Given the description of an element on the screen output the (x, y) to click on. 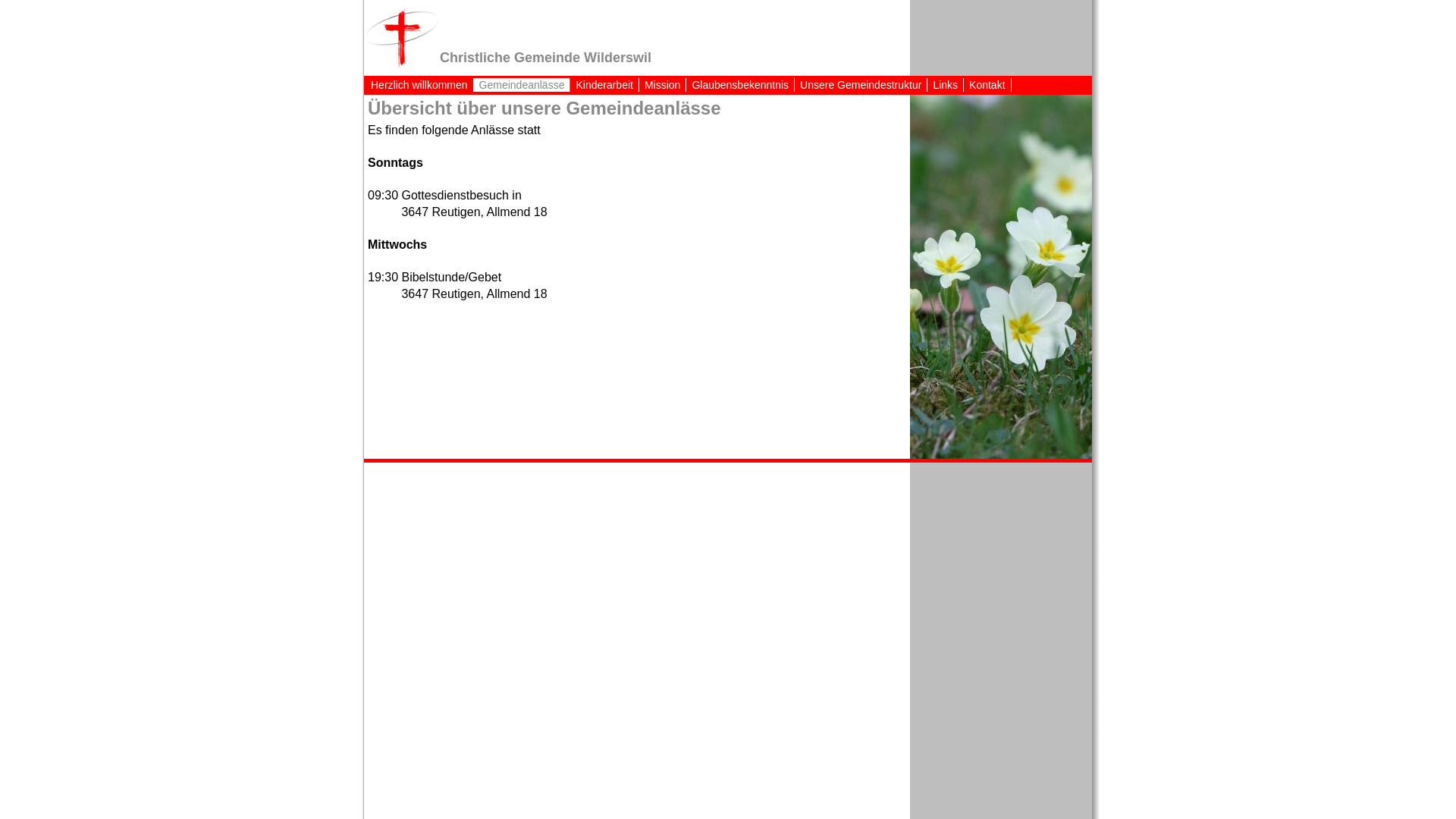
Startseite Element type: hover (401, 37)
Herzlich willkommen Element type: text (419, 84)
Mission Element type: text (662, 84)
Unsere Gemeindestruktur Element type: text (860, 84)
Glaubensbekenntnis Element type: text (740, 84)
Kontakt Element type: text (986, 84)
Kinderarbeit Element type: text (604, 84)
Links Element type: text (945, 84)
Christliche Gemeinde Wilderswil Element type: text (545, 57)
